Given the description of an element on the screen output the (x, y) to click on. 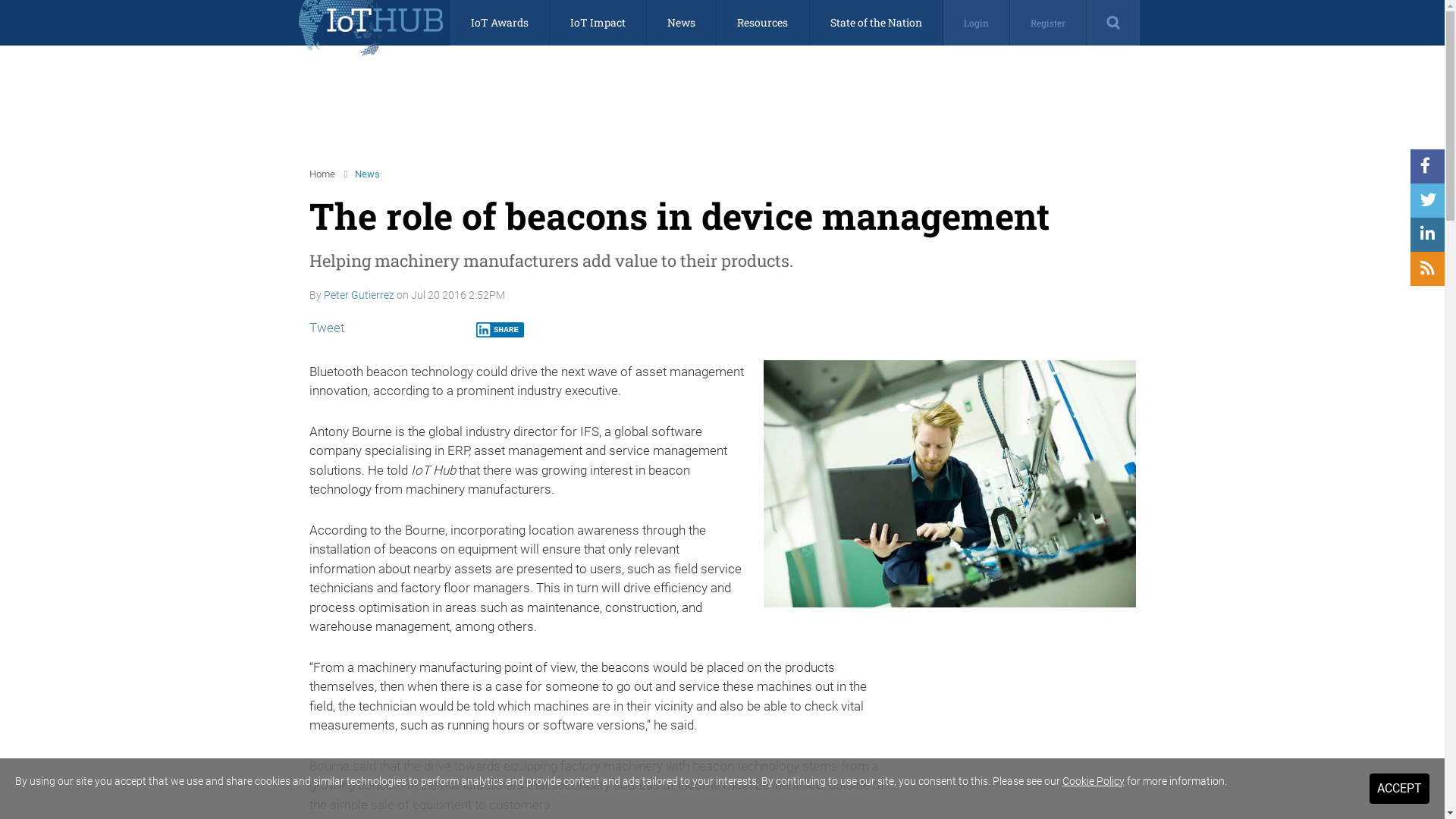
Login Element type: text (976, 22)
IoT Awards Element type: text (499, 22)
SHARE Element type: text (500, 329)
News Element type: text (680, 22)
Tweet Element type: text (326, 327)
Home Element type: text (322, 174)
ACCEPT Element type: text (1399, 788)
State of the Nation Element type: text (875, 22)
IoT Impact Element type: text (597, 22)
Peter Gutierrez Element type: text (359, 294)
Cookie Policy Element type: text (1093, 781)
Resources Element type: text (762, 22)
Register Element type: text (1047, 22)
News Element type: text (366, 174)
